Given the description of an element on the screen output the (x, y) to click on. 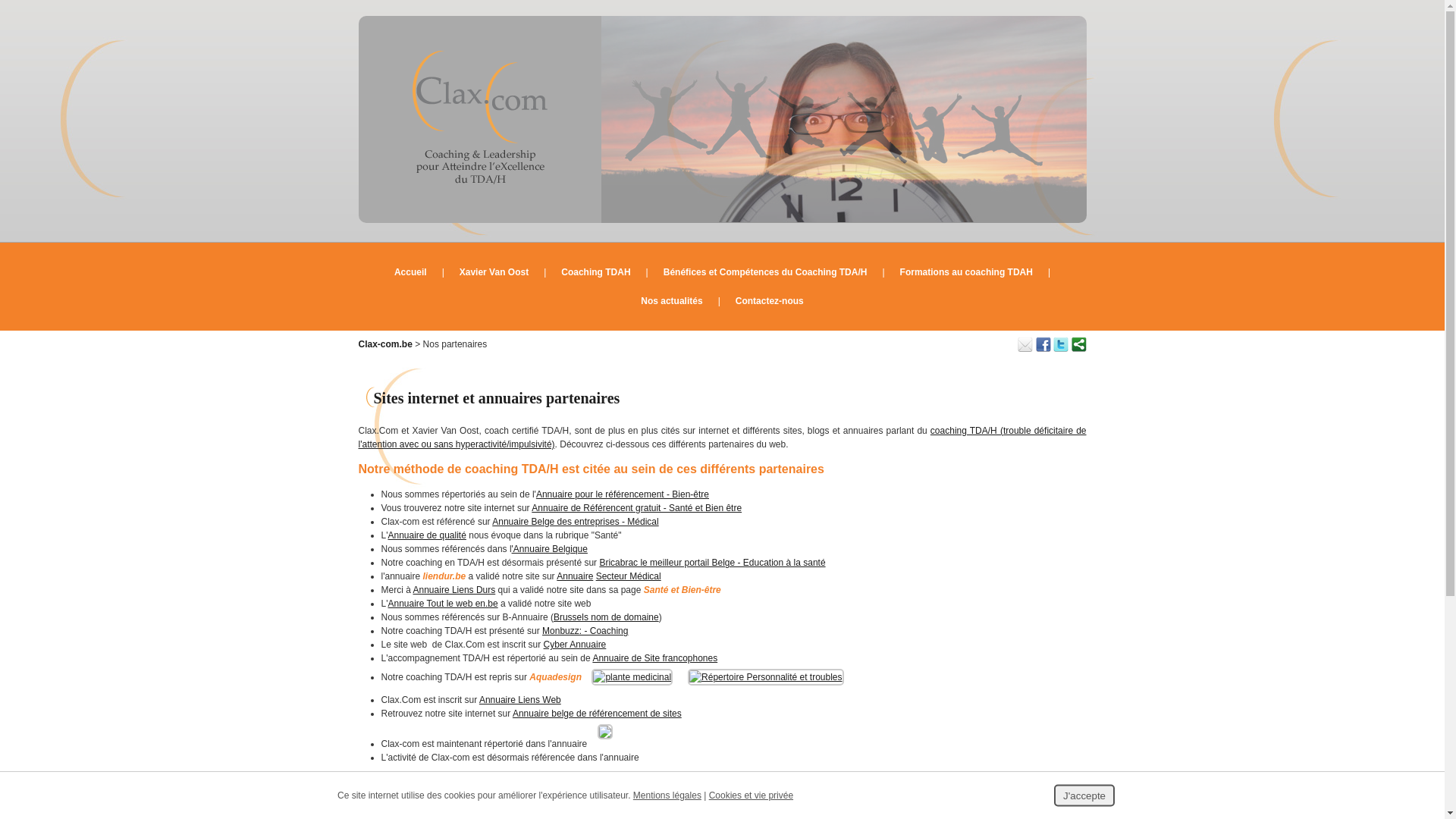
recherche.be Element type: text (414, 796)
Contactez-nous Element type: text (769, 300)
Formations au coaching TDAH Element type: text (966, 271)
Clax-com.be Element type: text (384, 343)
Annuaire Element type: text (574, 576)
Annuaire Tout le web en.be Element type: text (442, 603)
Monbuzz: - Coaching Element type: text (584, 630)
Annuaire Liens Web Element type: text (520, 699)
Xavier Van Oost Element type: text (493, 271)
Brussels nom de domaine Element type: text (605, 616)
Cyber Annuaire Element type: text (574, 644)
'Annuaire Belgique Element type: text (549, 548)
Annuaire de Site francophones Element type: text (654, 657)
Coaching TDAH Element type: text (595, 271)
Annuaire Liens Durs Element type: text (454, 589)
Accueil Element type: text (410, 271)
